Given the description of an element on the screen output the (x, y) to click on. 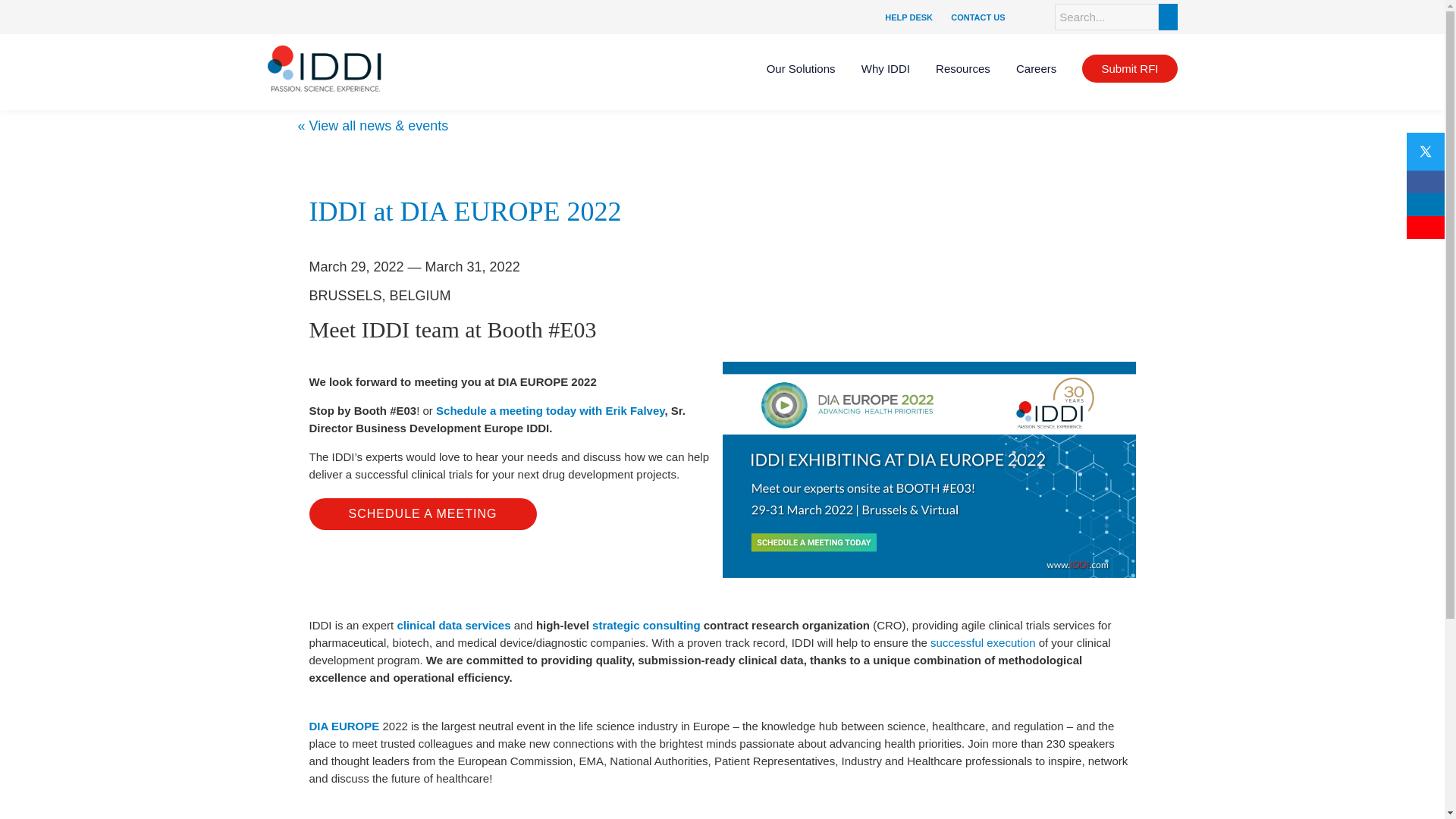
HELP DESK (909, 17)
CONTACT US (977, 17)
Our Solutions (801, 68)
Careers (1036, 68)
Why IDDI (885, 68)
Resources (963, 68)
